Given the description of an element on the screen output the (x, y) to click on. 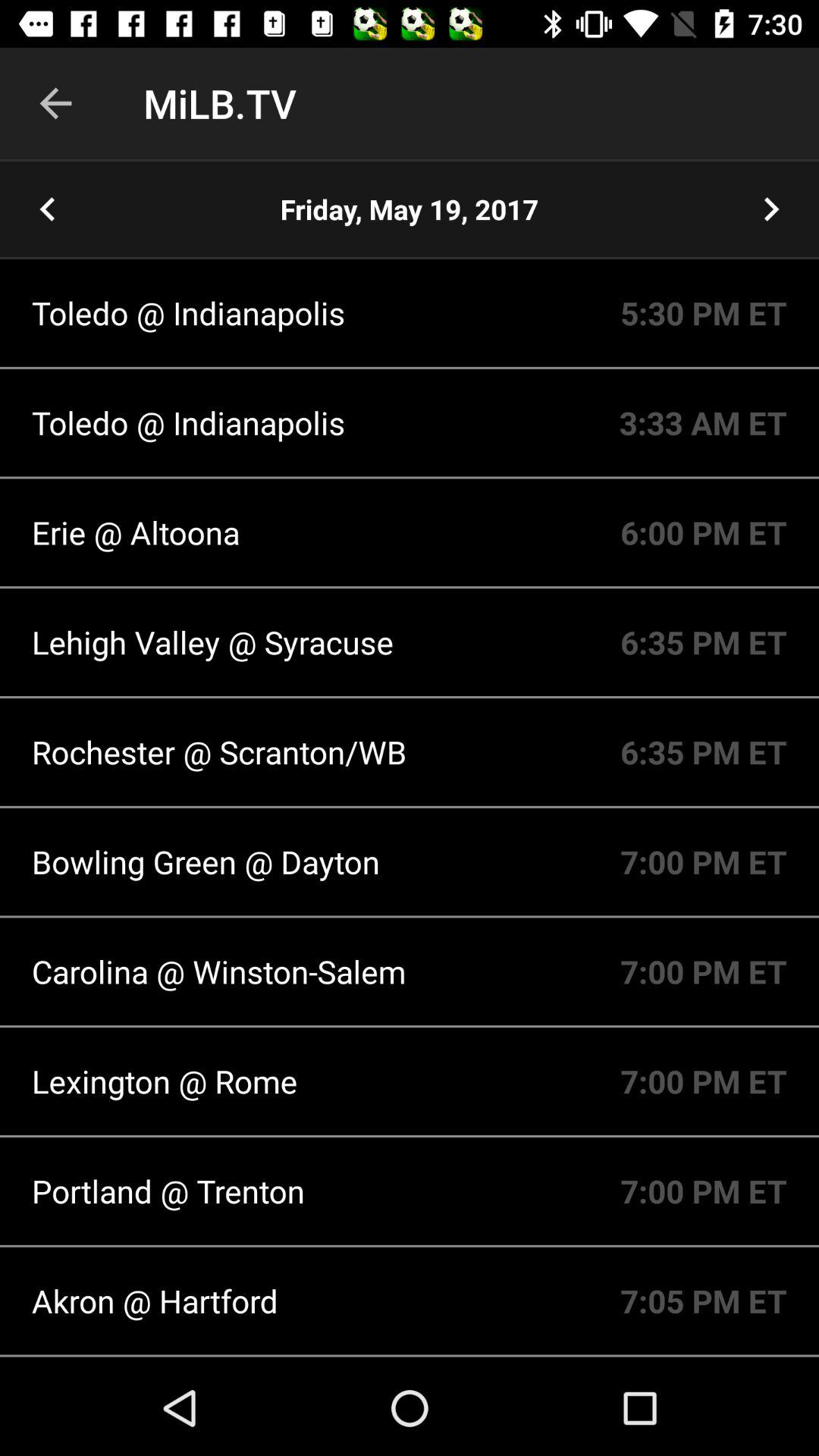
choose icon above the toledo @ indianapolis (409, 209)
